Given the description of an element on the screen output the (x, y) to click on. 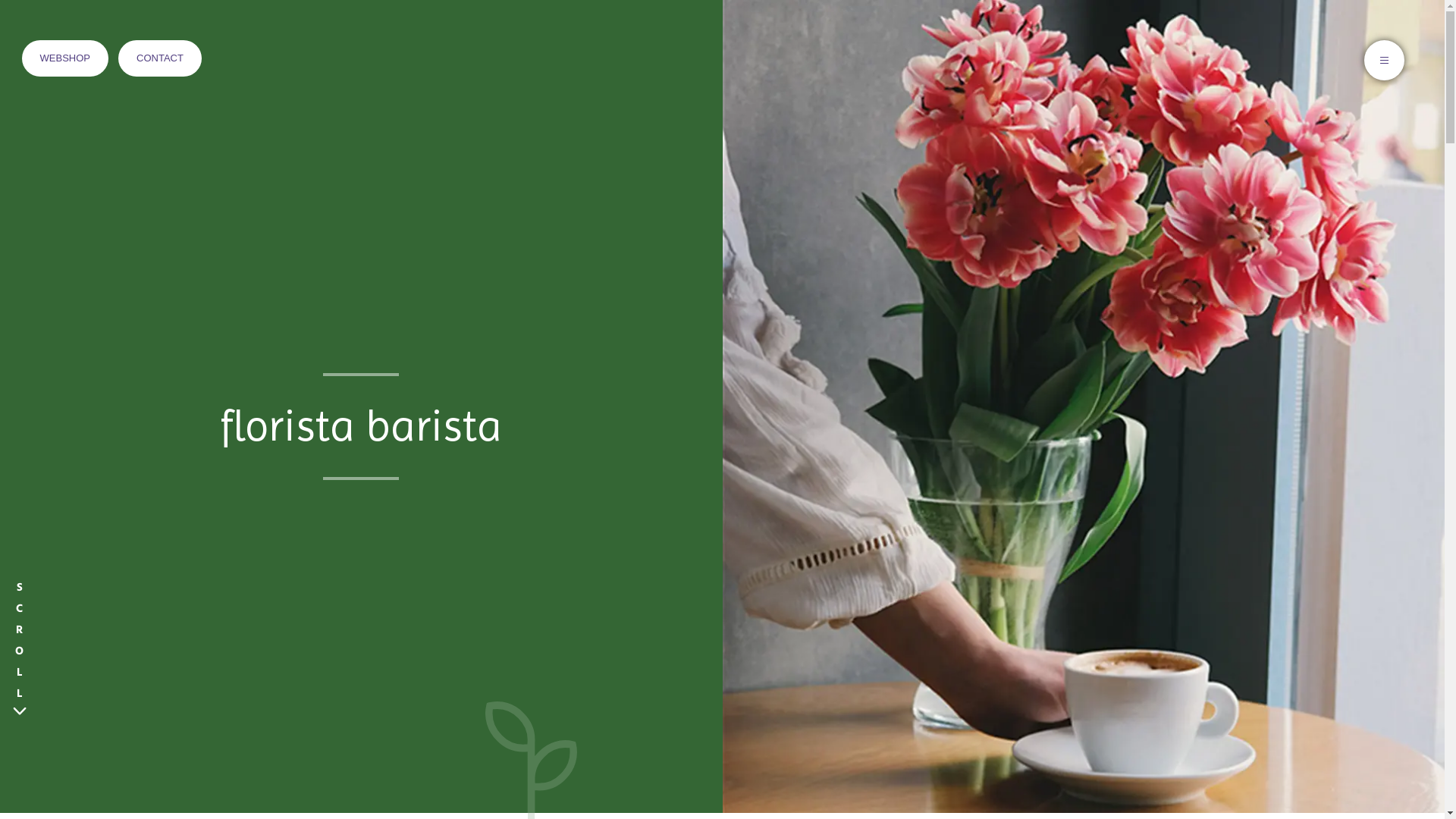
WEBSHOP Element type: text (64, 58)
